Given the description of an element on the screen output the (x, y) to click on. 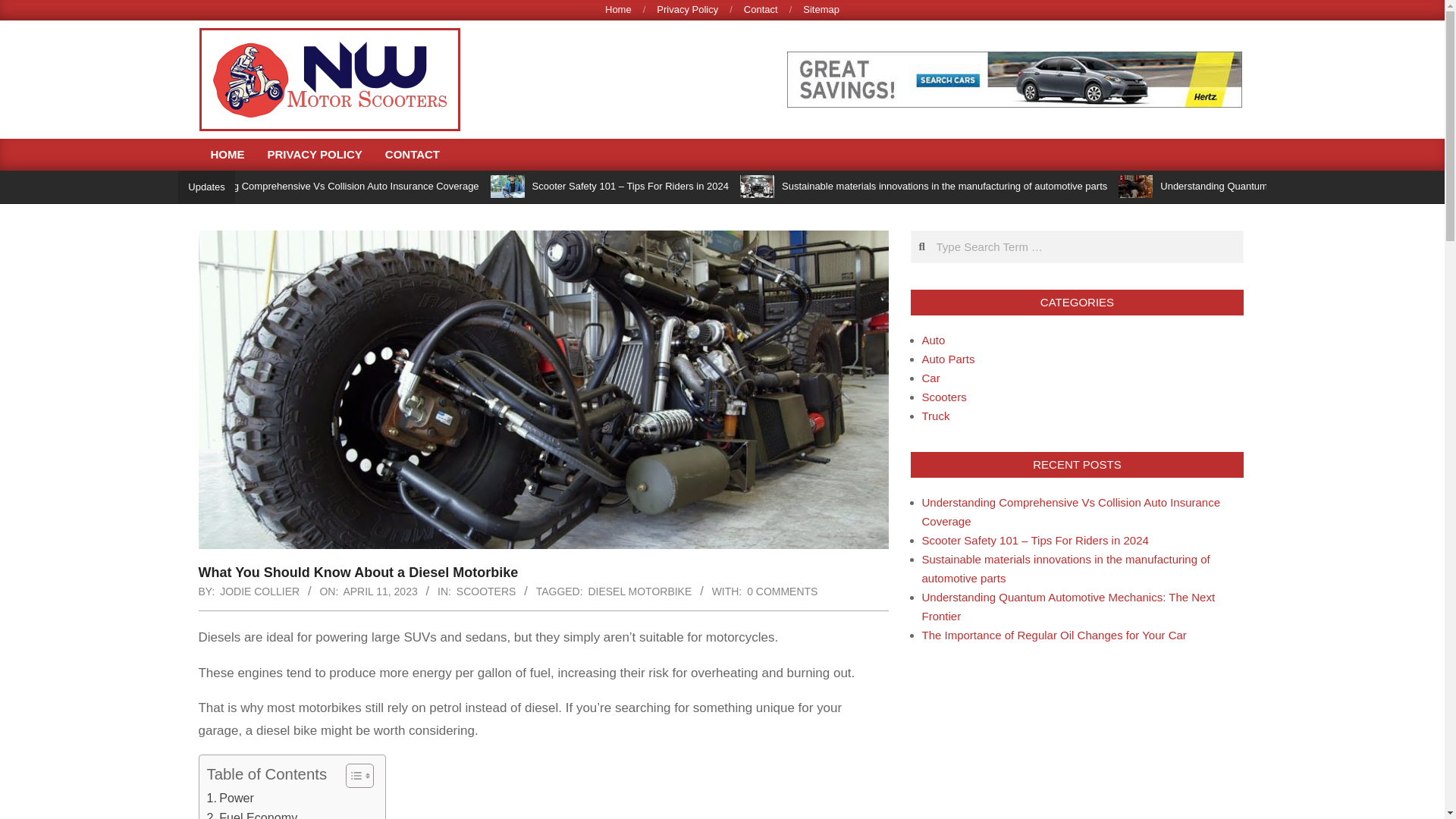
Contact (760, 9)
Power (229, 798)
PRIVACY POLICY (315, 154)
CONTACT (412, 154)
Home (618, 9)
Sitemap (821, 9)
Posts by Jodie Collier (259, 591)
HOME (227, 154)
Fuel Economy (251, 813)
Privacy Policy (686, 9)
Tuesday, April 11, 2023, 3:33 pm (379, 591)
